Given the description of an element on the screen output the (x, y) to click on. 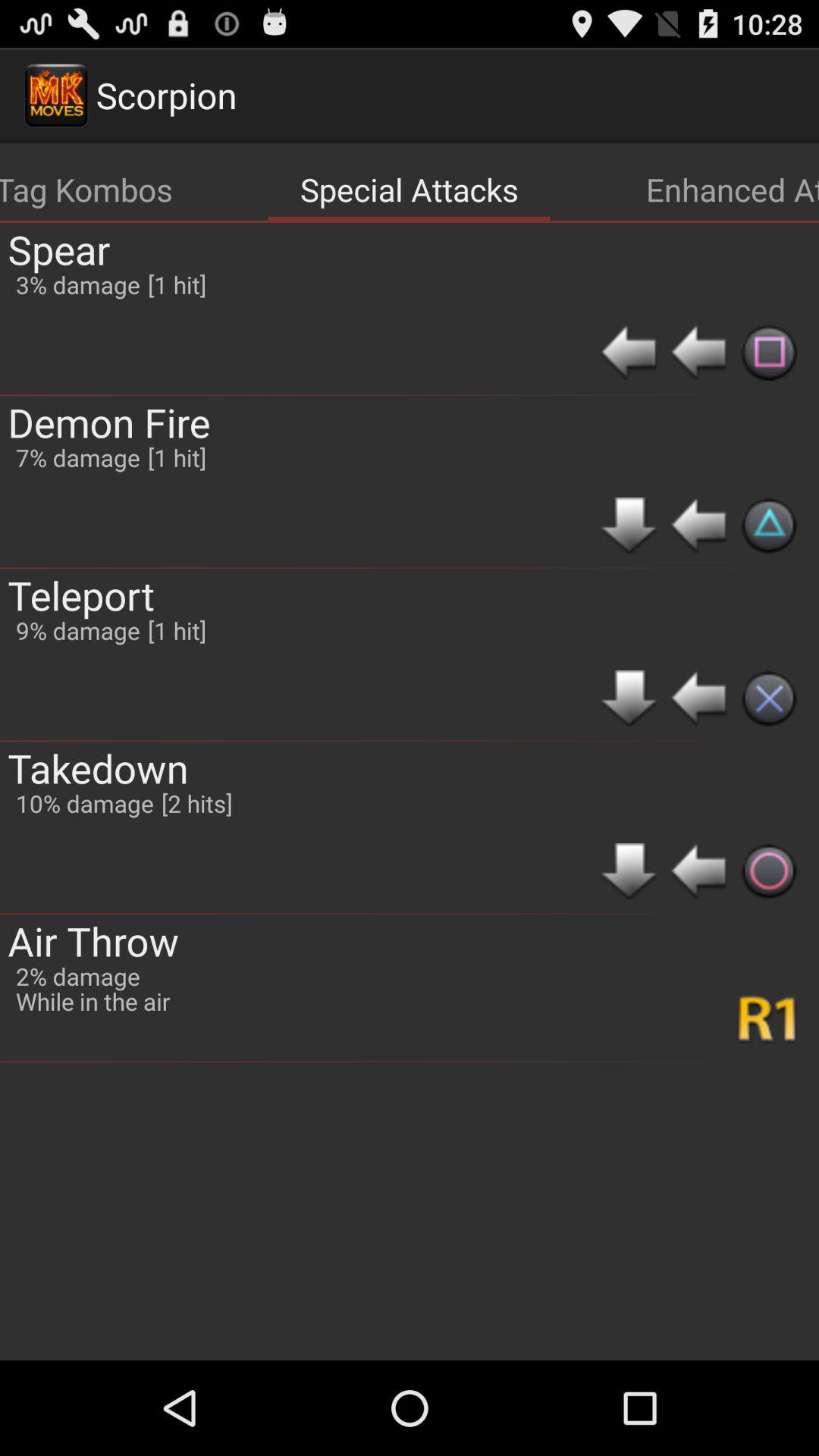
choose item above the teleport icon (77, 457)
